Given the description of an element on the screen output the (x, y) to click on. 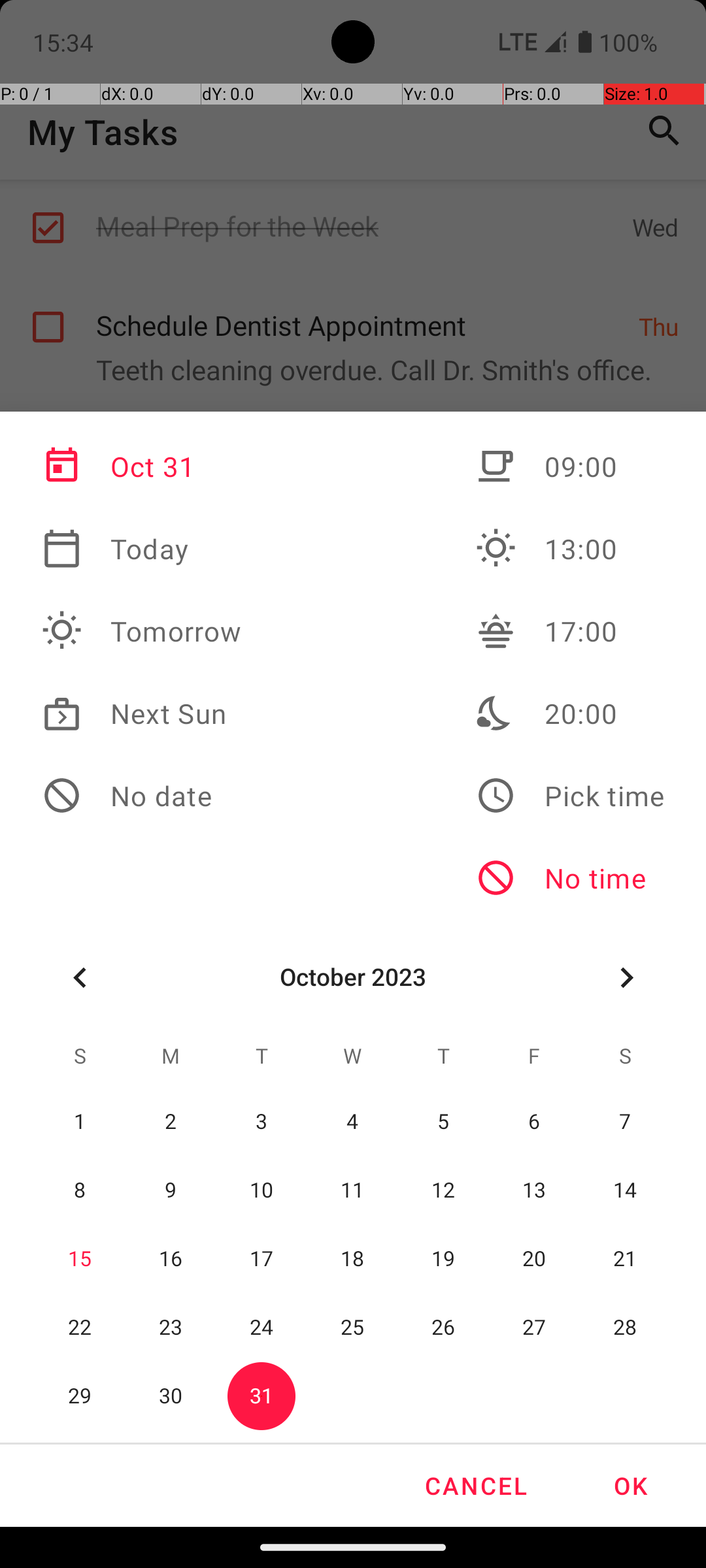
Oct 31 Element type: android.widget.CompoundButton (141, 466)
